Given the description of an element on the screen output the (x, y) to click on. 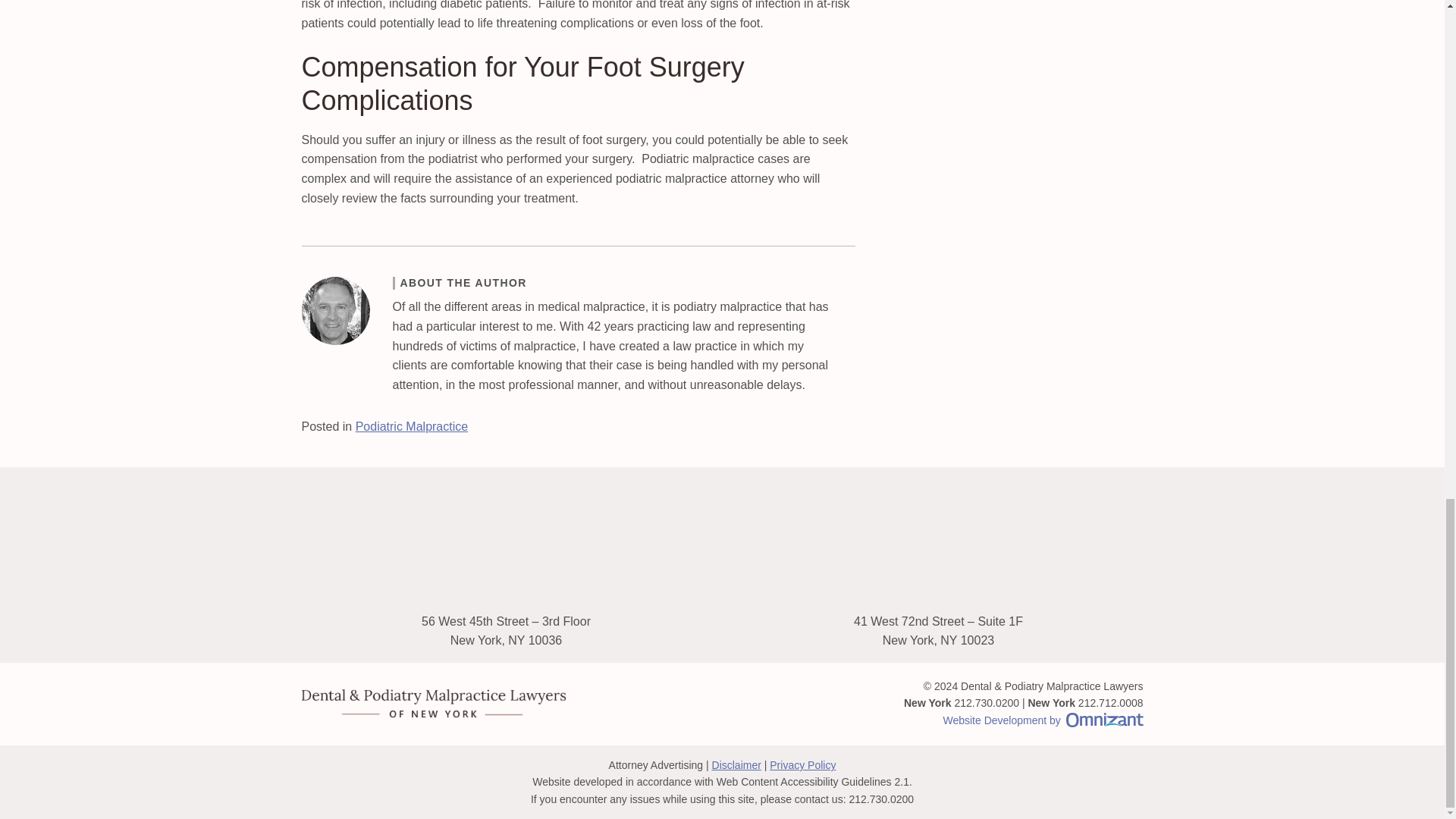
212.712.0008 (1110, 702)
Podiatric Malpractice (411, 426)
212.730.0200 (986, 702)
